Given the description of an element on the screen output the (x, y) to click on. 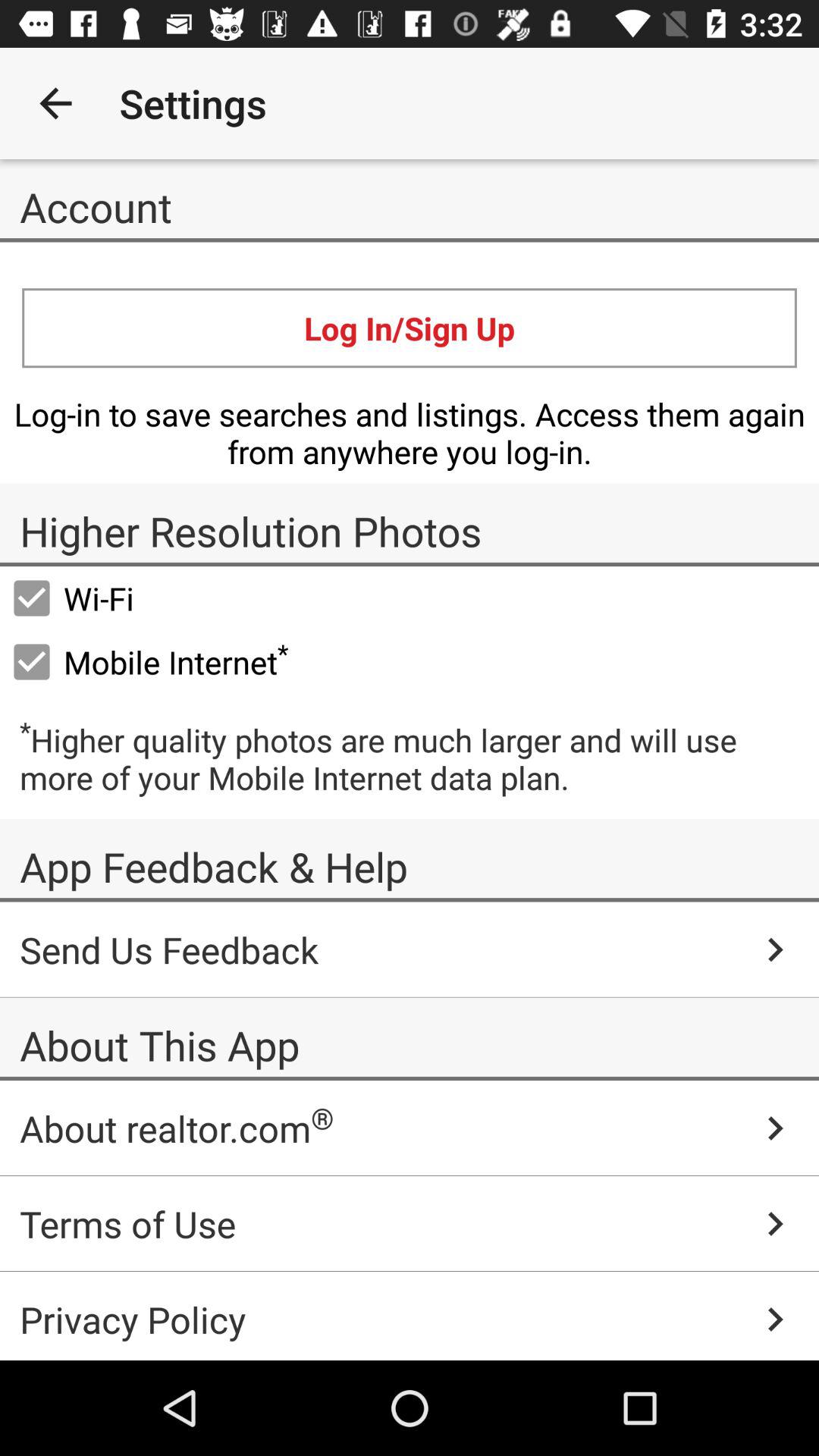
select the icon below the higher resolution photos (72, 598)
